Given the description of an element on the screen output the (x, y) to click on. 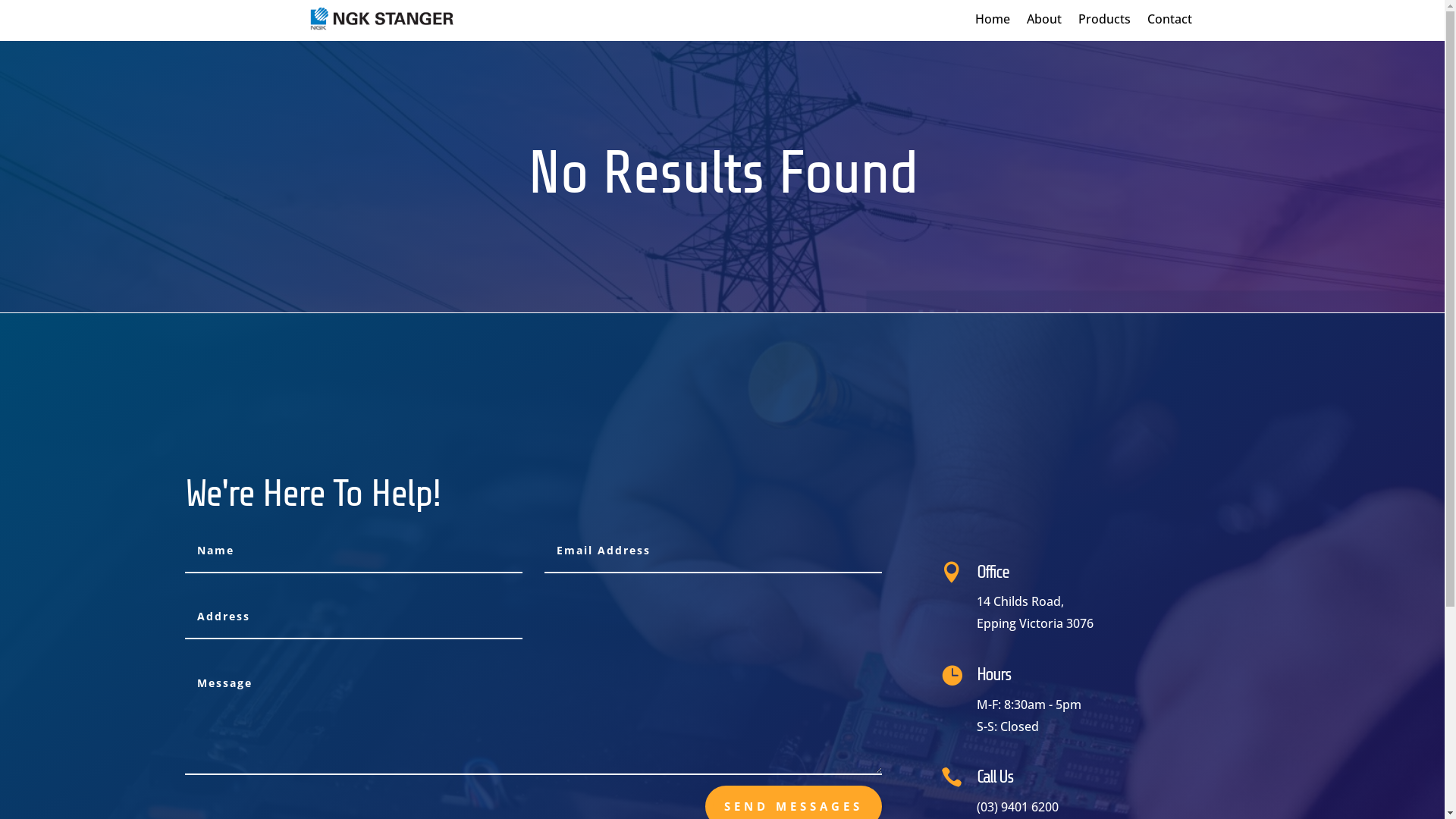
Products Element type: text (1104, 21)
Contact Element type: text (1169, 21)
About Element type: text (1043, 21)
Home Element type: text (992, 21)
